Given the description of an element on the screen output the (x, y) to click on. 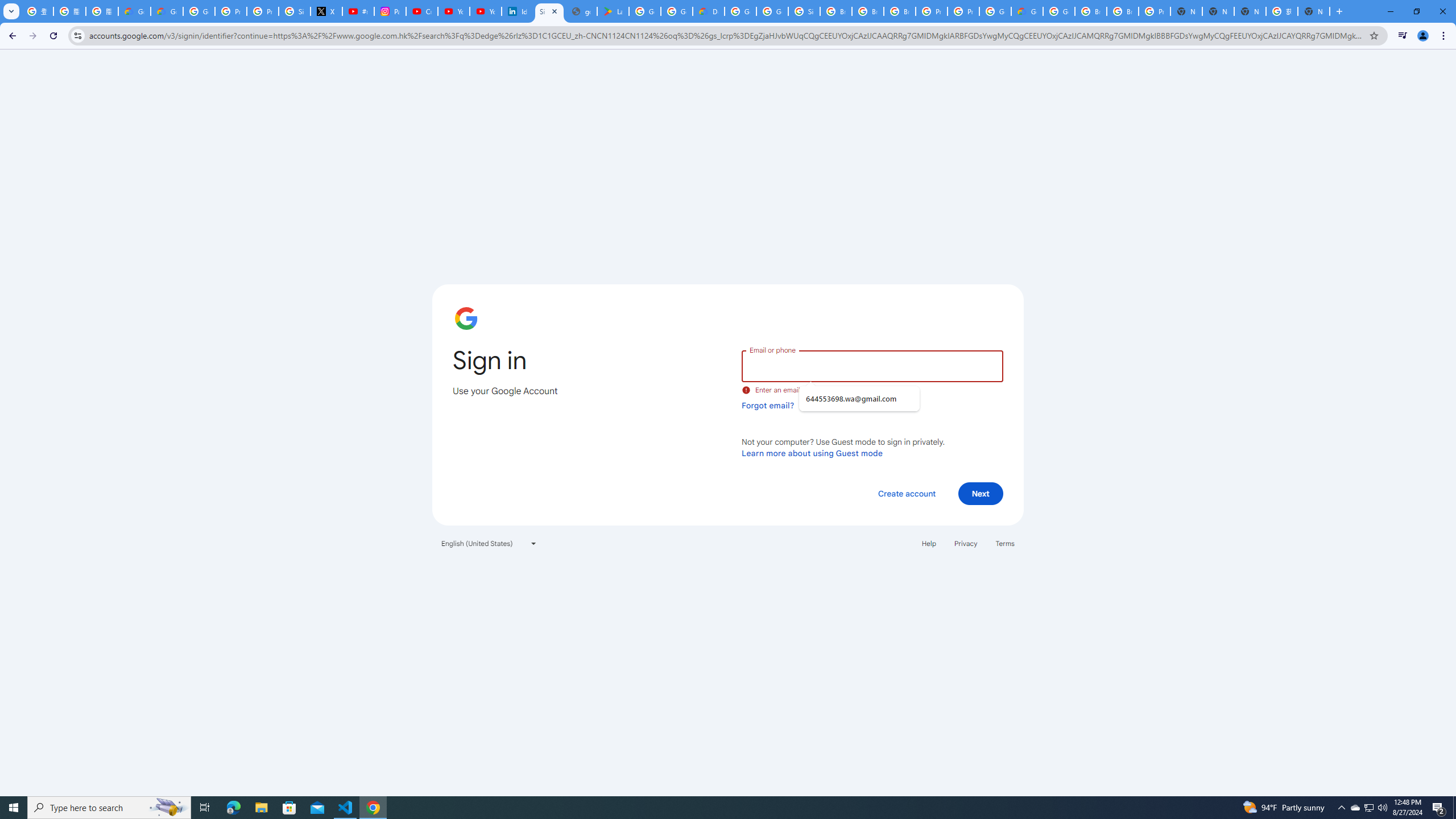
Google Cloud Privacy Notice (166, 11)
English (United States) (489, 542)
Google Cloud Platform (740, 11)
Browse Chrome as a guest - Computer - Google Chrome Help (1123, 11)
Google Cloud Estimate Summary (1027, 11)
Google Workspace - Specific Terms (676, 11)
Help (928, 542)
Next (980, 493)
Privacy (965, 542)
